Given the description of an element on the screen output the (x, y) to click on. 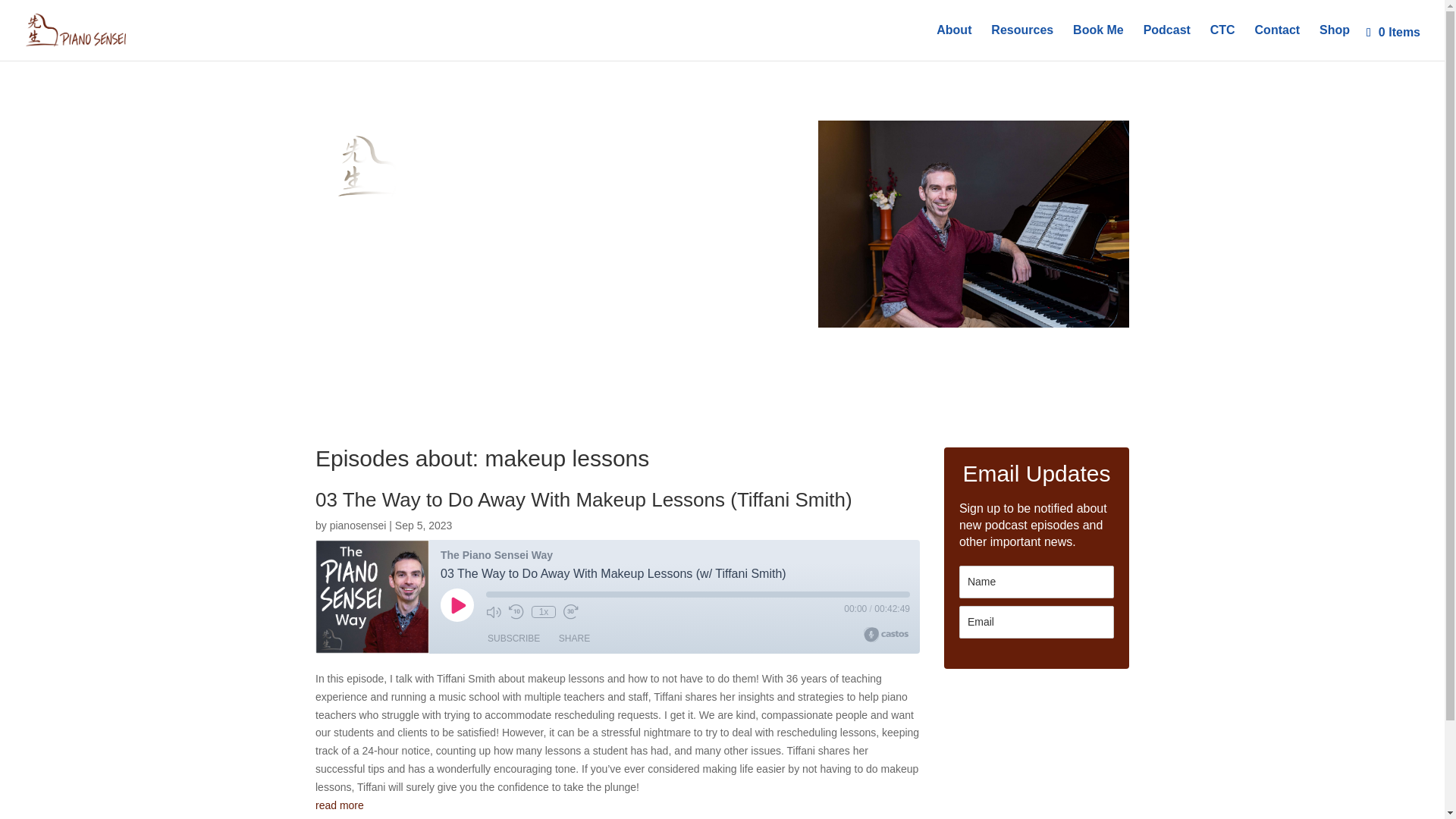
Resources (1021, 42)
Posts by pianosensei (358, 525)
About (953, 42)
Book Me (1098, 42)
read more (617, 805)
pianosensei (358, 525)
0 Items (1394, 31)
Podcast (1166, 42)
Contact (1277, 42)
at piano maroon 2 (973, 223)
